Given the description of an element on the screen output the (x, y) to click on. 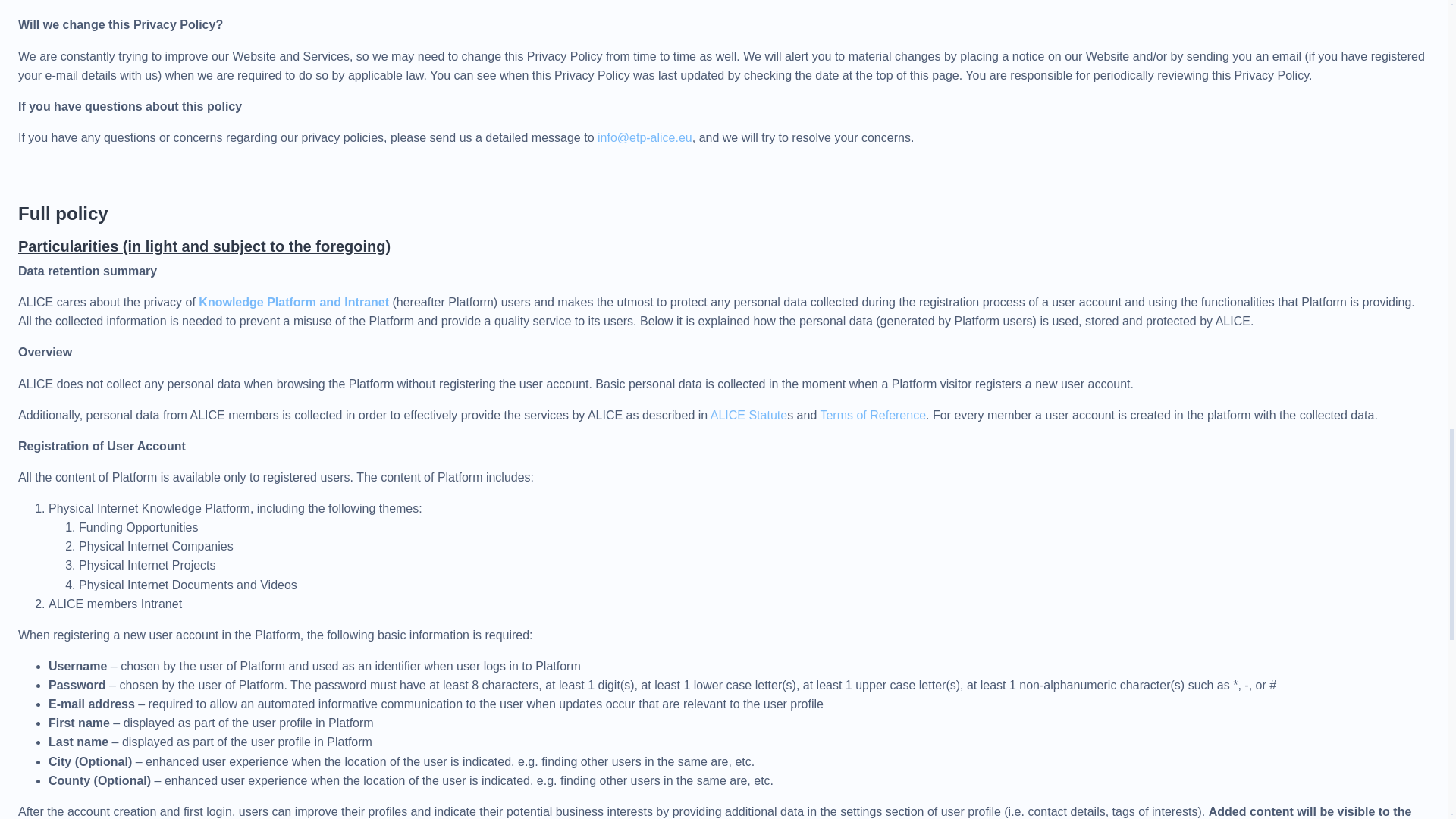
Terms of Reference (872, 414)
Knowledge Platform and Intranet (293, 301)
ALICE Statute (748, 414)
